Given the description of an element on the screen output the (x, y) to click on. 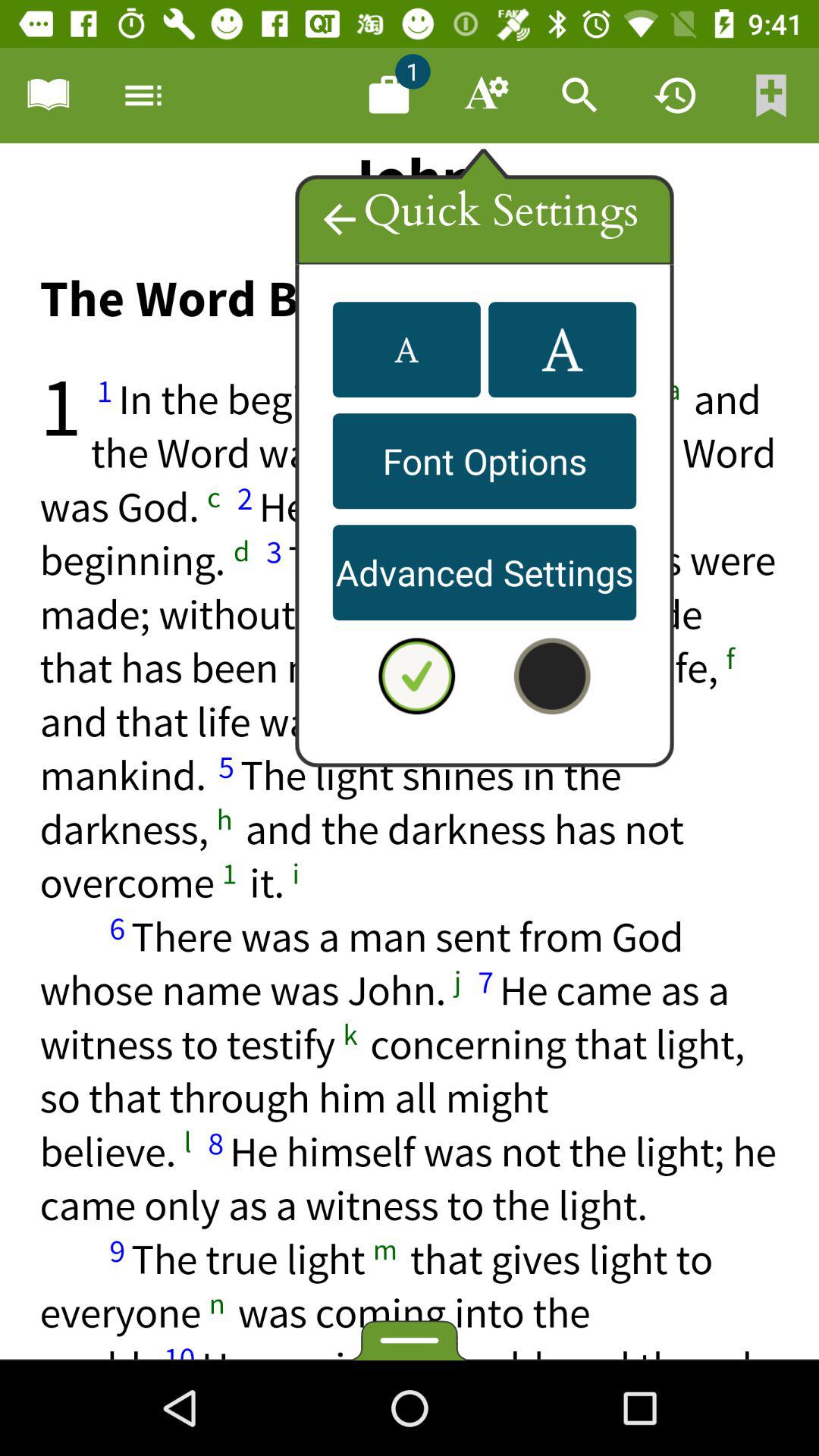
search bar (579, 95)
